Given the description of an element on the screen output the (x, y) to click on. 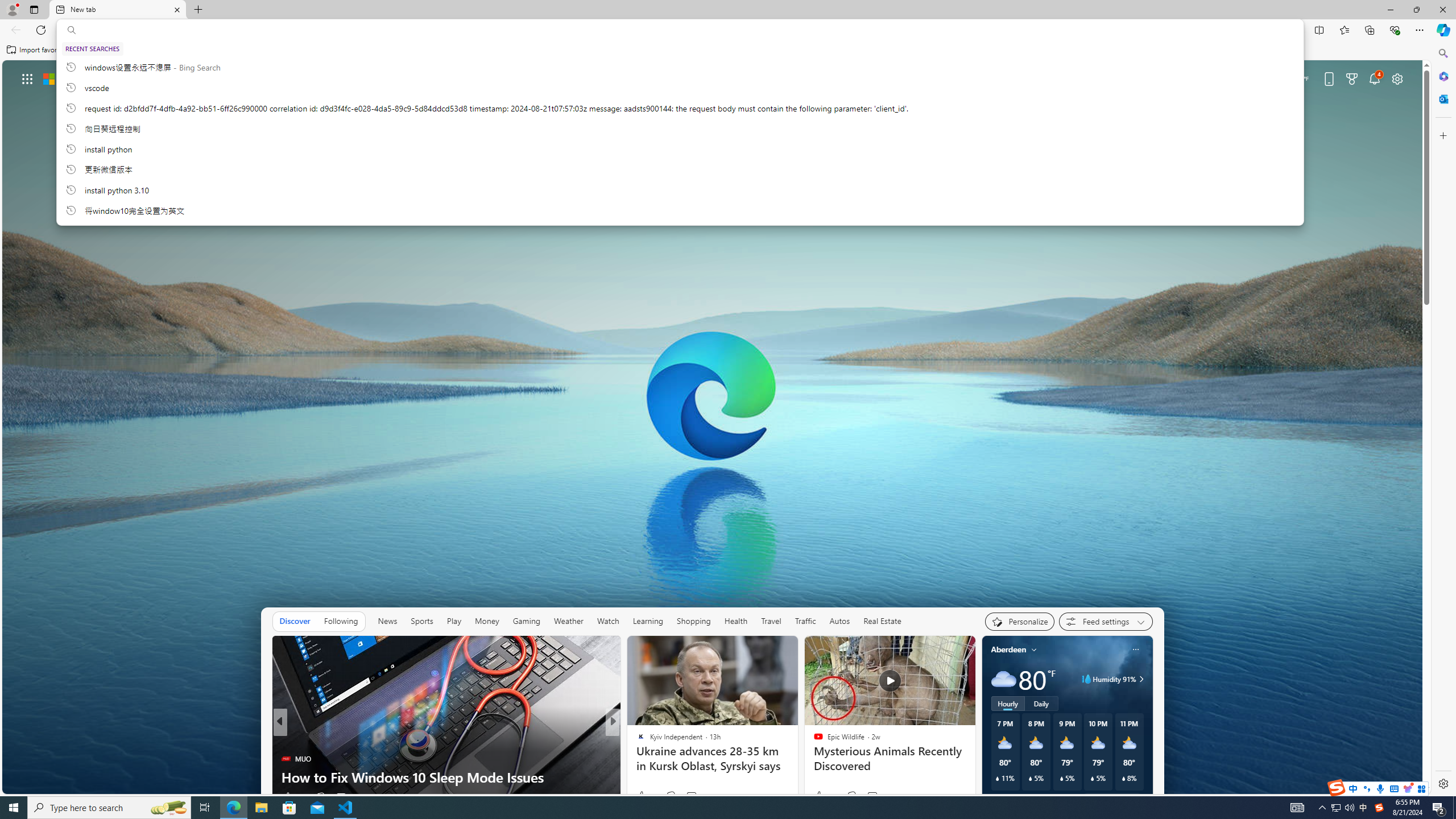
MUO (286, 758)
557 Like (643, 796)
More Options (875, 182)
596 Like (643, 796)
AutomationID: backgroundImagePicture (712, 426)
547 Like (643, 796)
Avoid These Commons Habits To Prevent Wrinkles (796, 777)
My location (1033, 649)
Moneywise (635, 740)
Search icon (70, 29)
